Given the description of an element on the screen output the (x, y) to click on. 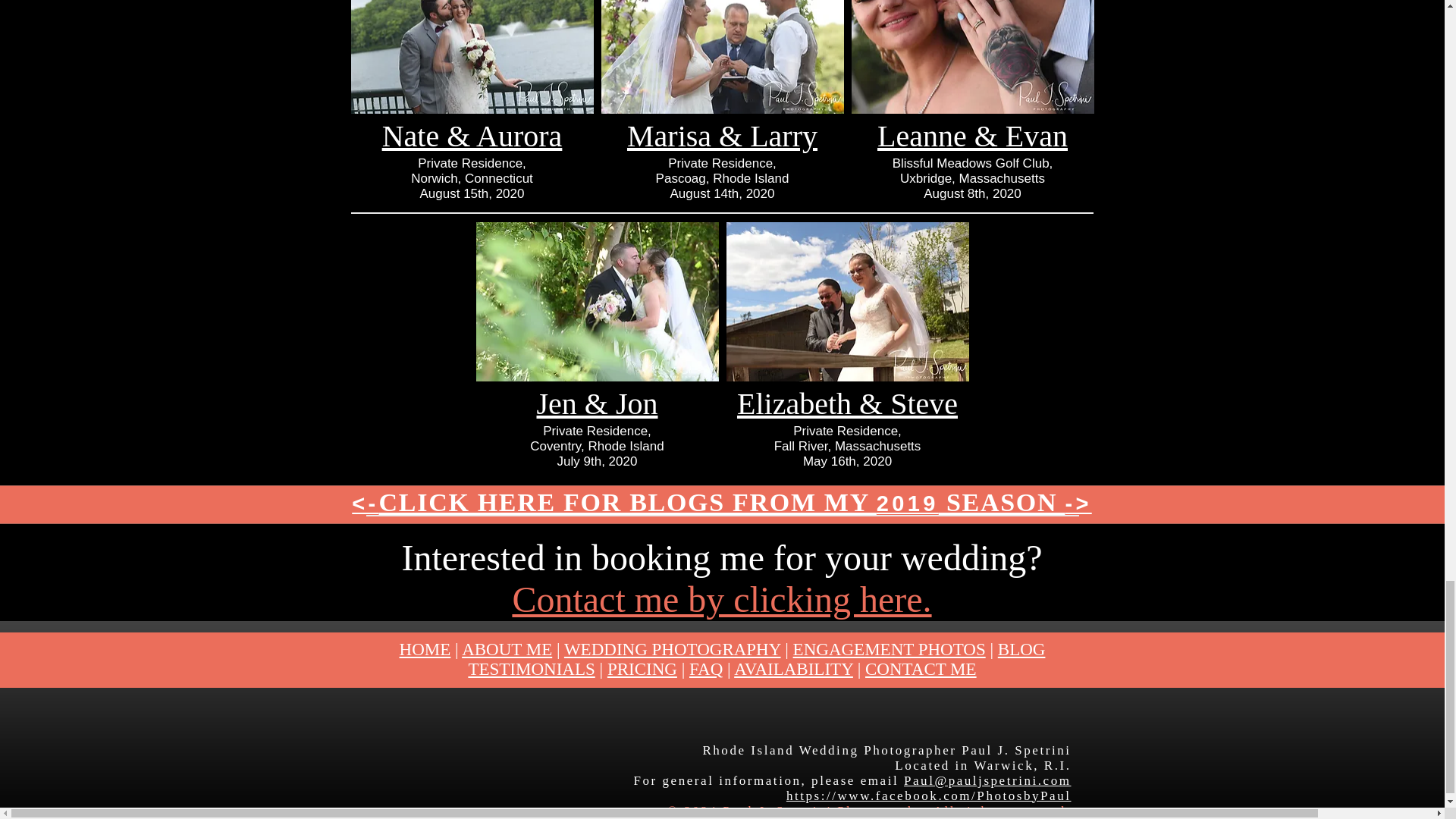
HOME (424, 649)
Contact me by clicking here. (721, 599)
